Given the description of an element on the screen output the (x, y) to click on. 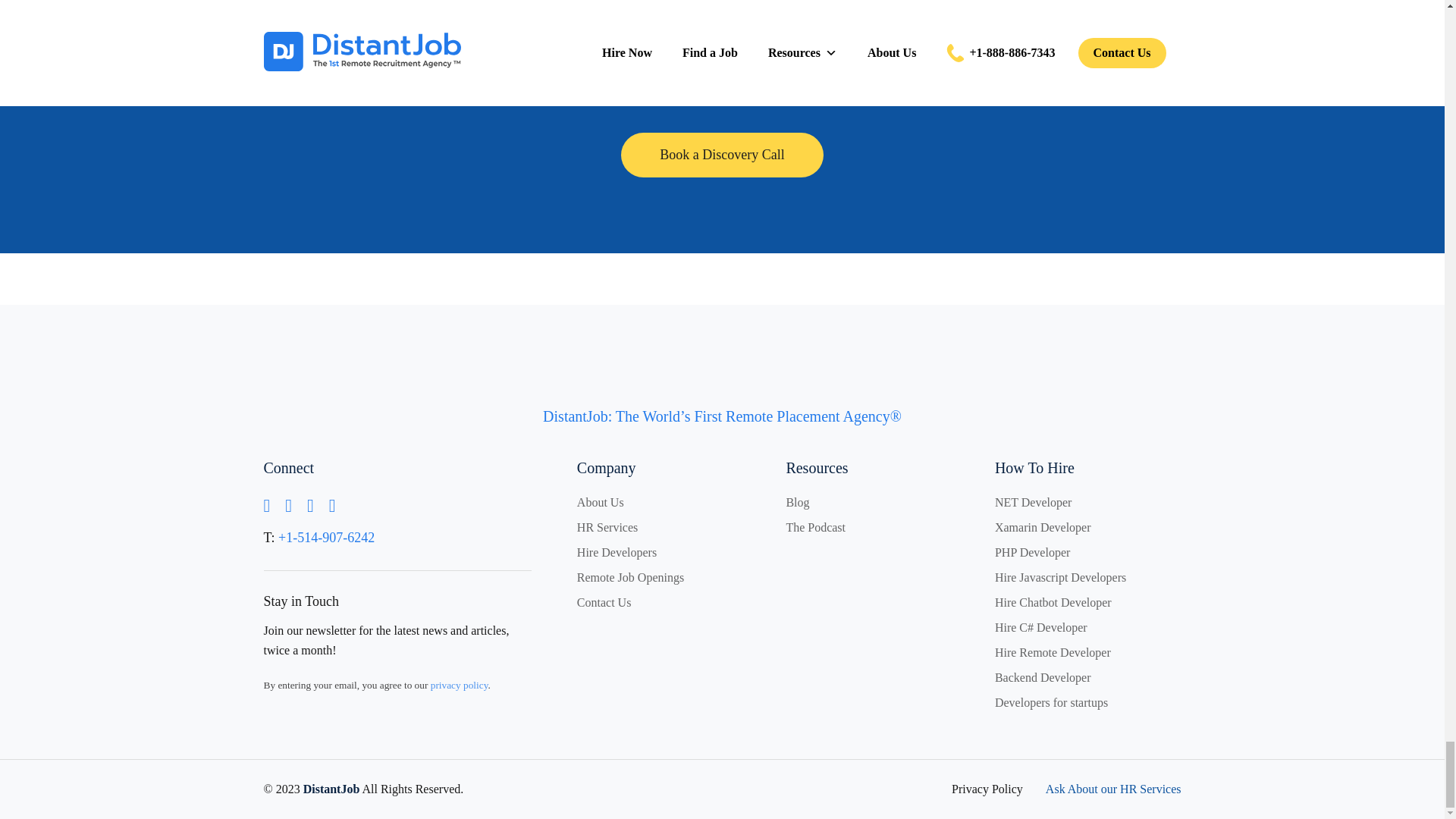
Hire a Developer (722, 154)
